Given the description of an element on the screen output the (x, y) to click on. 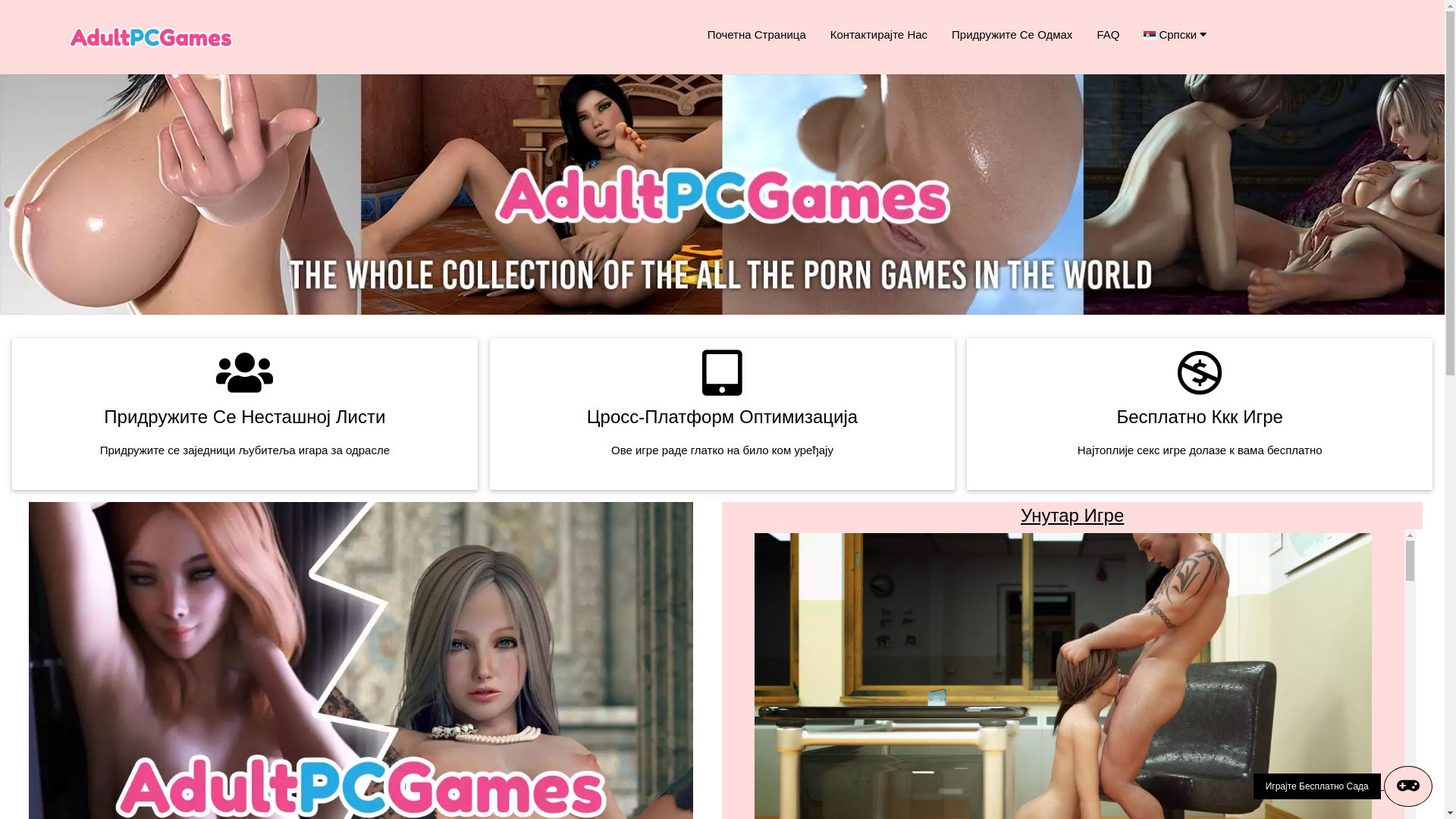
FAQ Element type: text (1107, 35)
